Given the description of an element on the screen output the (x, y) to click on. 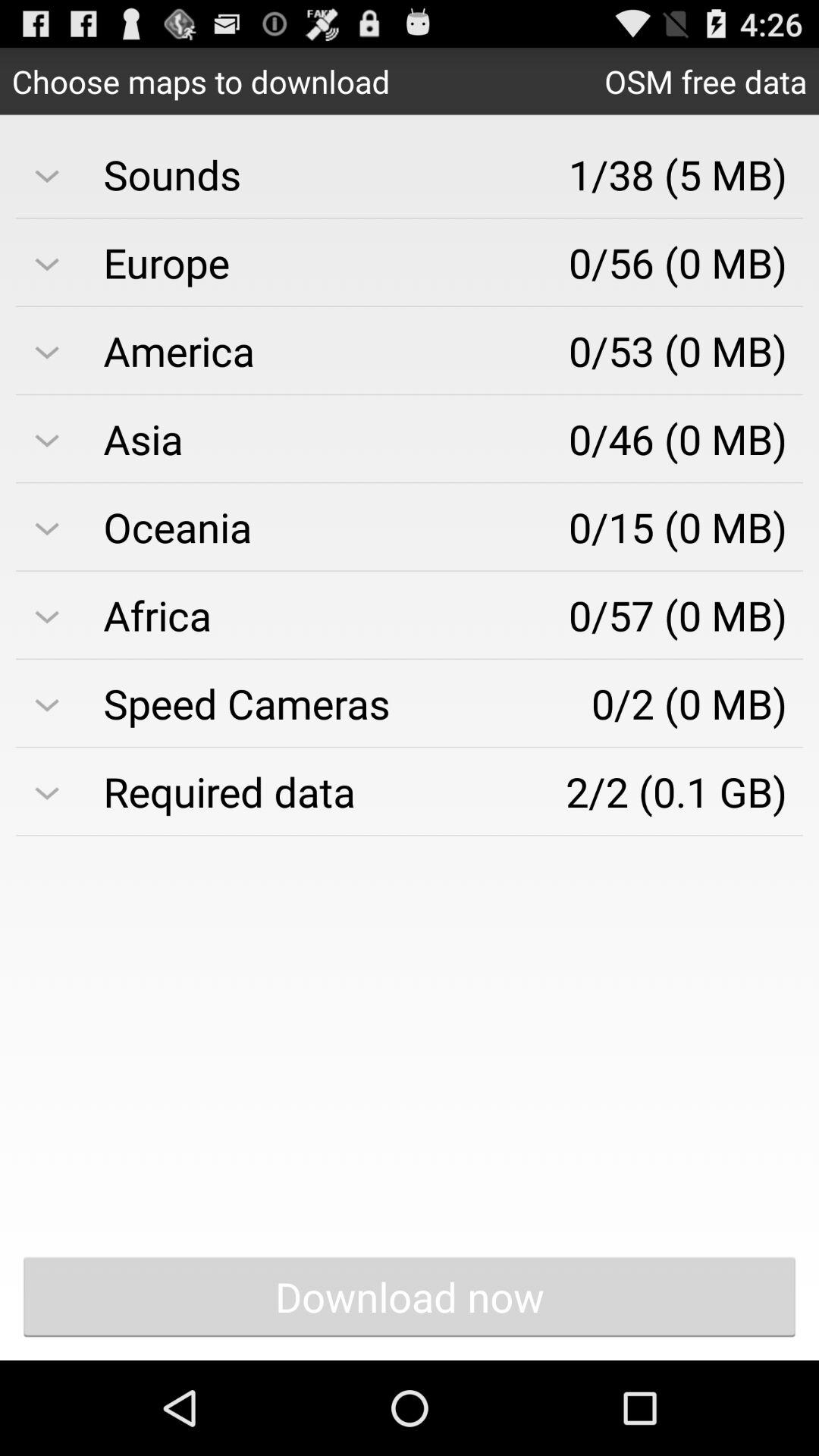
click on the button download now (409, 1296)
